Given the description of an element on the screen output the (x, y) to click on. 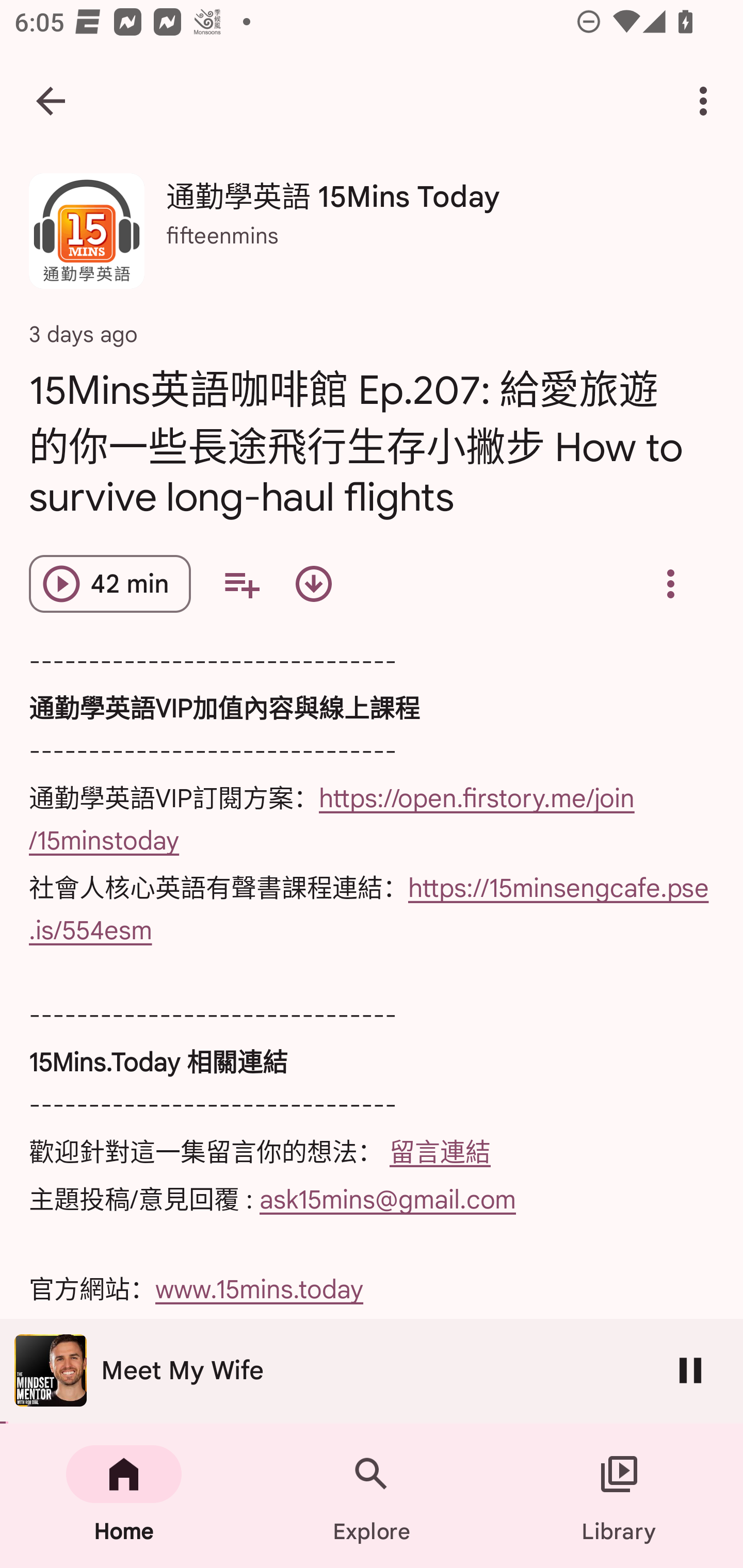
Navigate up (50, 101)
More options (706, 101)
通勤學英語 15Mins Today 通勤學英語 15Mins Today fifteenmins (371, 238)
Add to your queue (241, 583)
Download episode (313, 583)
Overflow menu (670, 583)
The Mindset Mentor Meet My Wife Pause 67.0 (371, 1370)
Pause (690, 1370)
Explore (371, 1495)
Library (619, 1495)
